Given the description of an element on the screen output the (x, y) to click on. 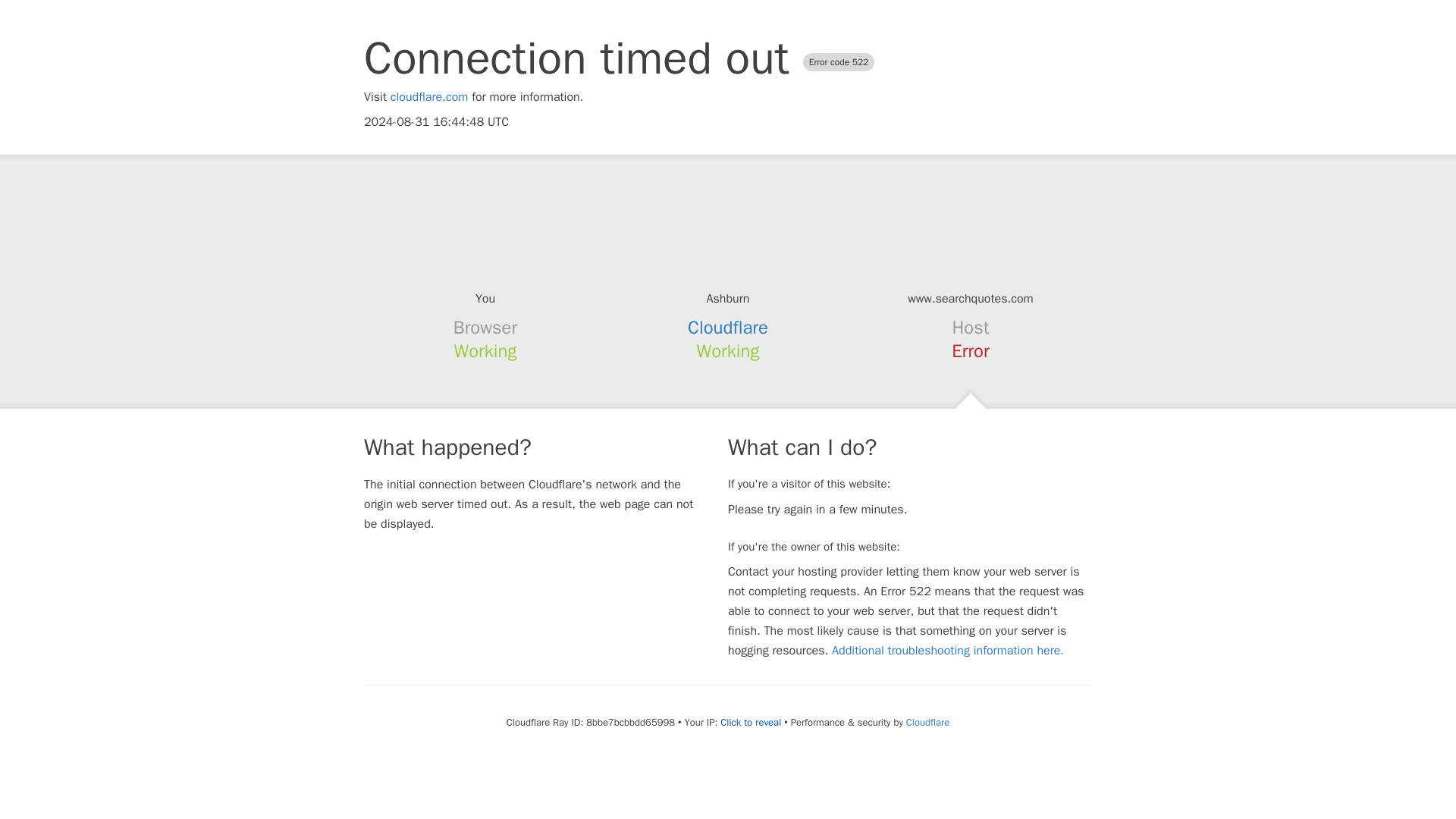
Cloudflare (727, 327)
cloudflare.com (429, 96)
Cloudflare (927, 721)
Click to reveal (750, 722)
Additional troubleshooting information here. (947, 650)
